Given the description of an element on the screen output the (x, y) to click on. 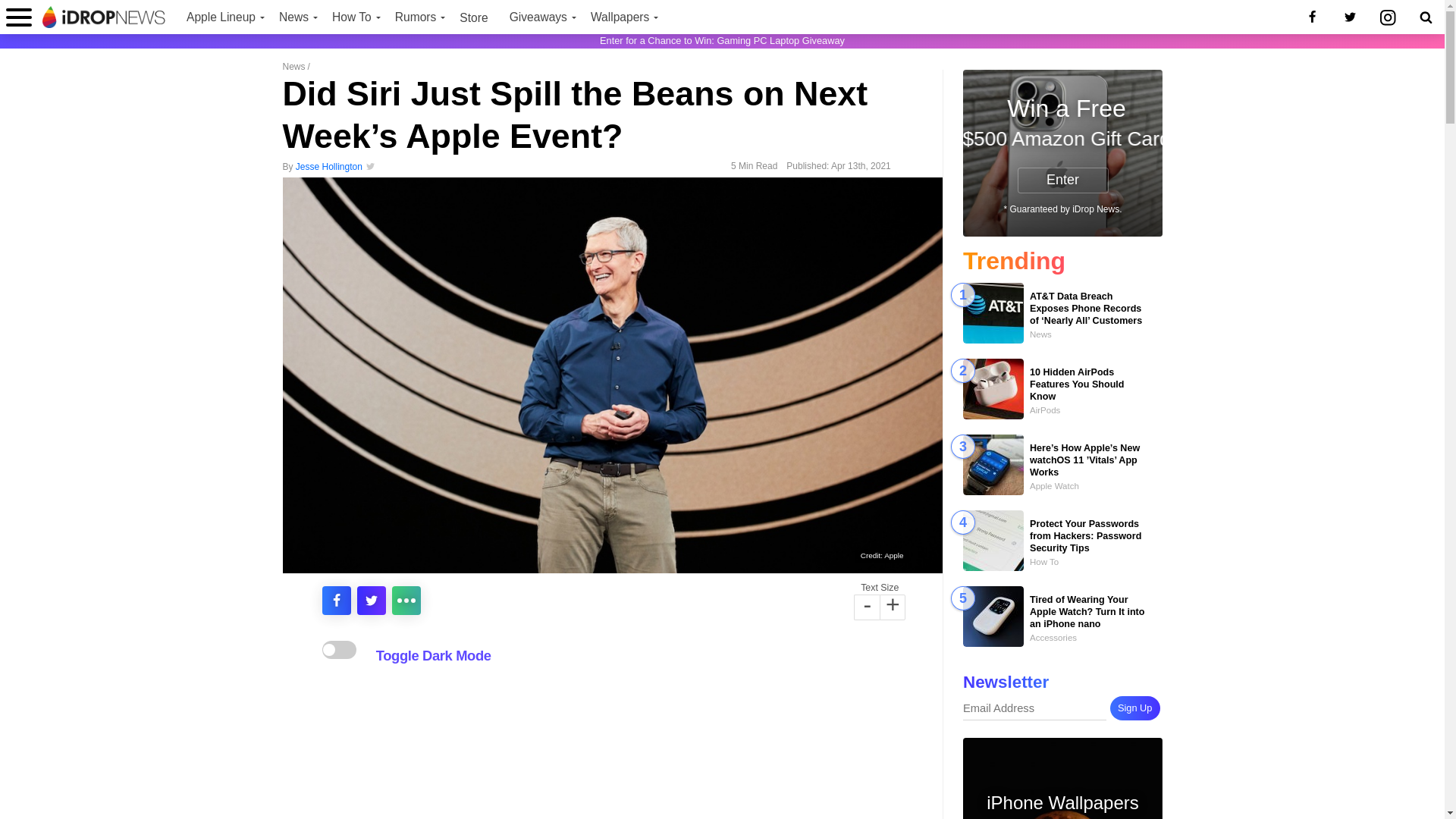
News (294, 17)
tweet this article (370, 600)
Rumors (416, 17)
How To (352, 17)
Advertisement (612, 746)
Apple Lineup (221, 17)
share on facebook (335, 600)
click for more sharing options (405, 600)
